Given the description of an element on the screen output the (x, y) to click on. 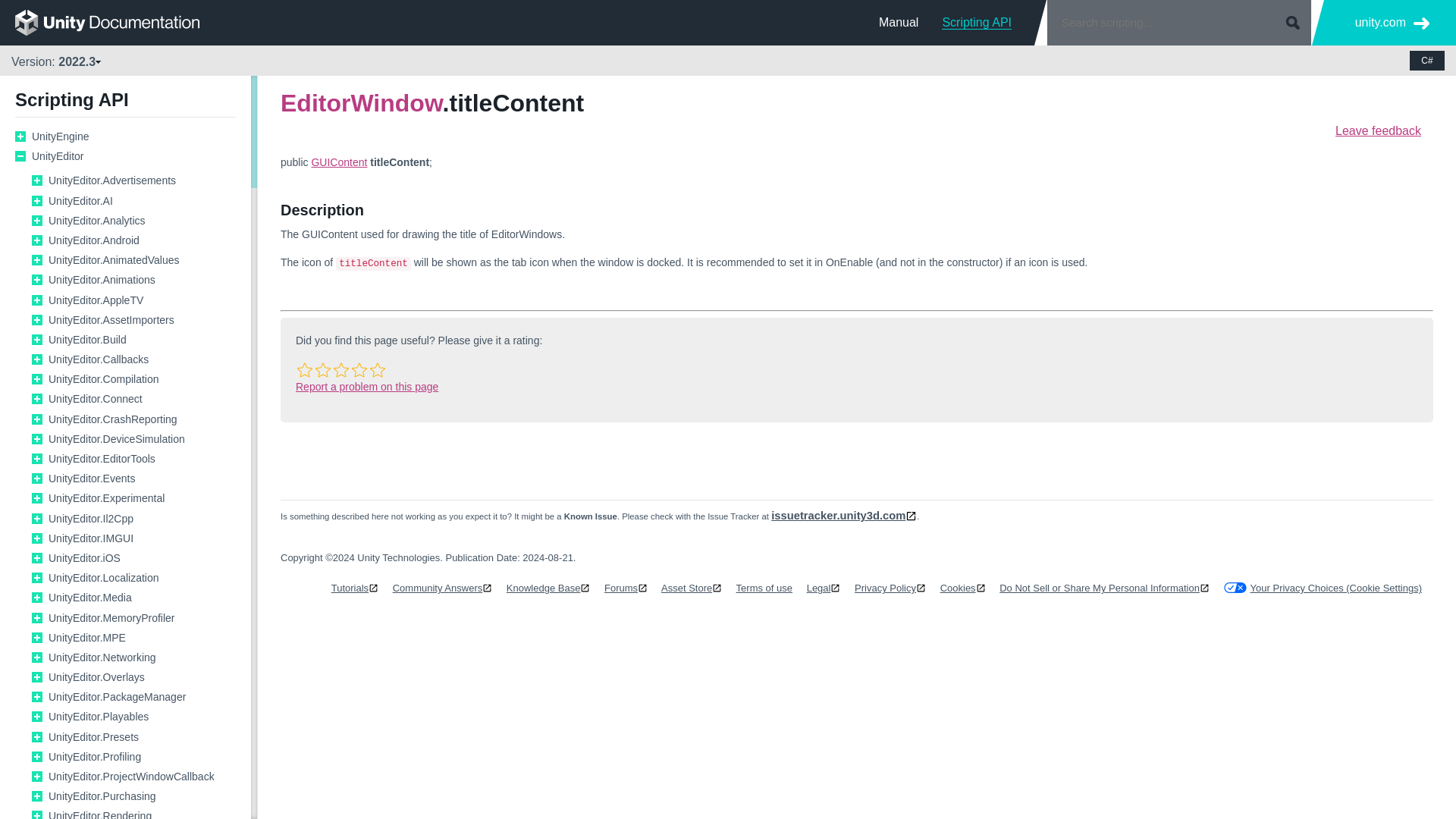
Manual (898, 22)
Leave feedback (1378, 130)
Scripting API (976, 22)
unity.com (1392, 22)
